Given the description of an element on the screen output the (x, y) to click on. 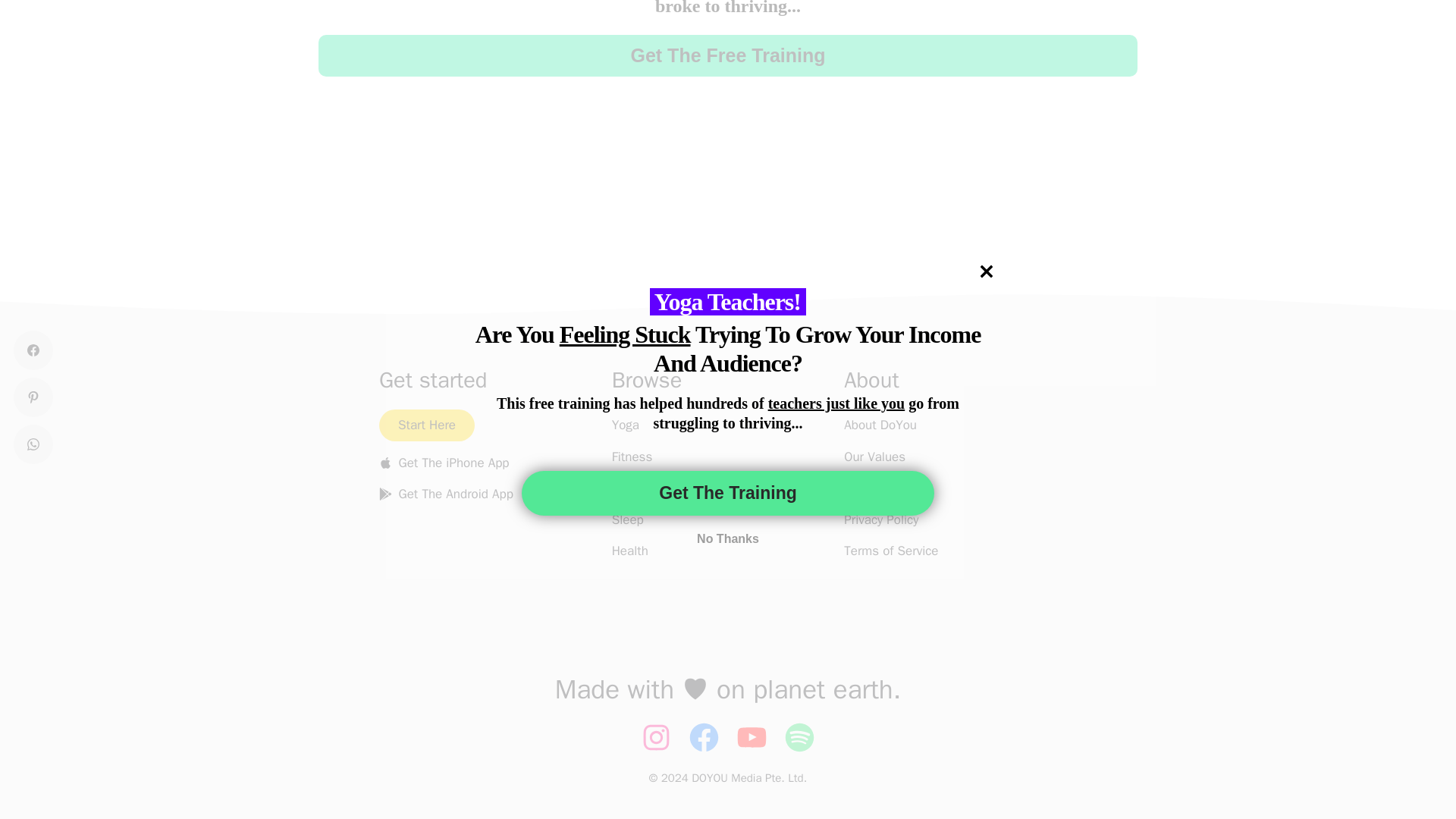
Get The Free Training (727, 55)
